Given the description of an element on the screen output the (x, y) to click on. 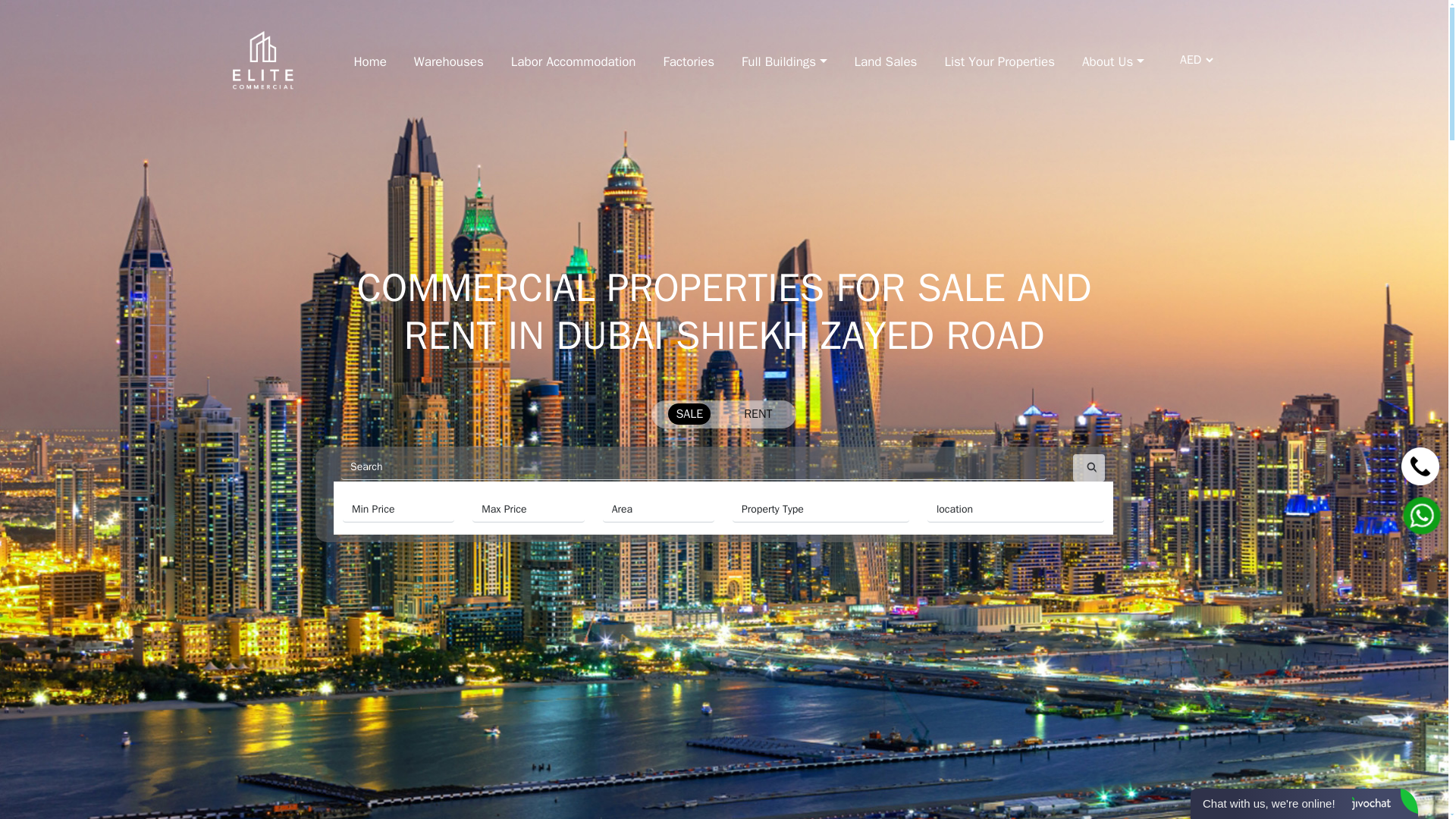
List Your Properties (999, 58)
Home (369, 58)
Factories (689, 58)
Warehouses (448, 58)
Labor Accommodation (573, 58)
About Us (1112, 58)
Land Sales (885, 58)
Full Buildings (783, 58)
